Given the description of an element on the screen output the (x, y) to click on. 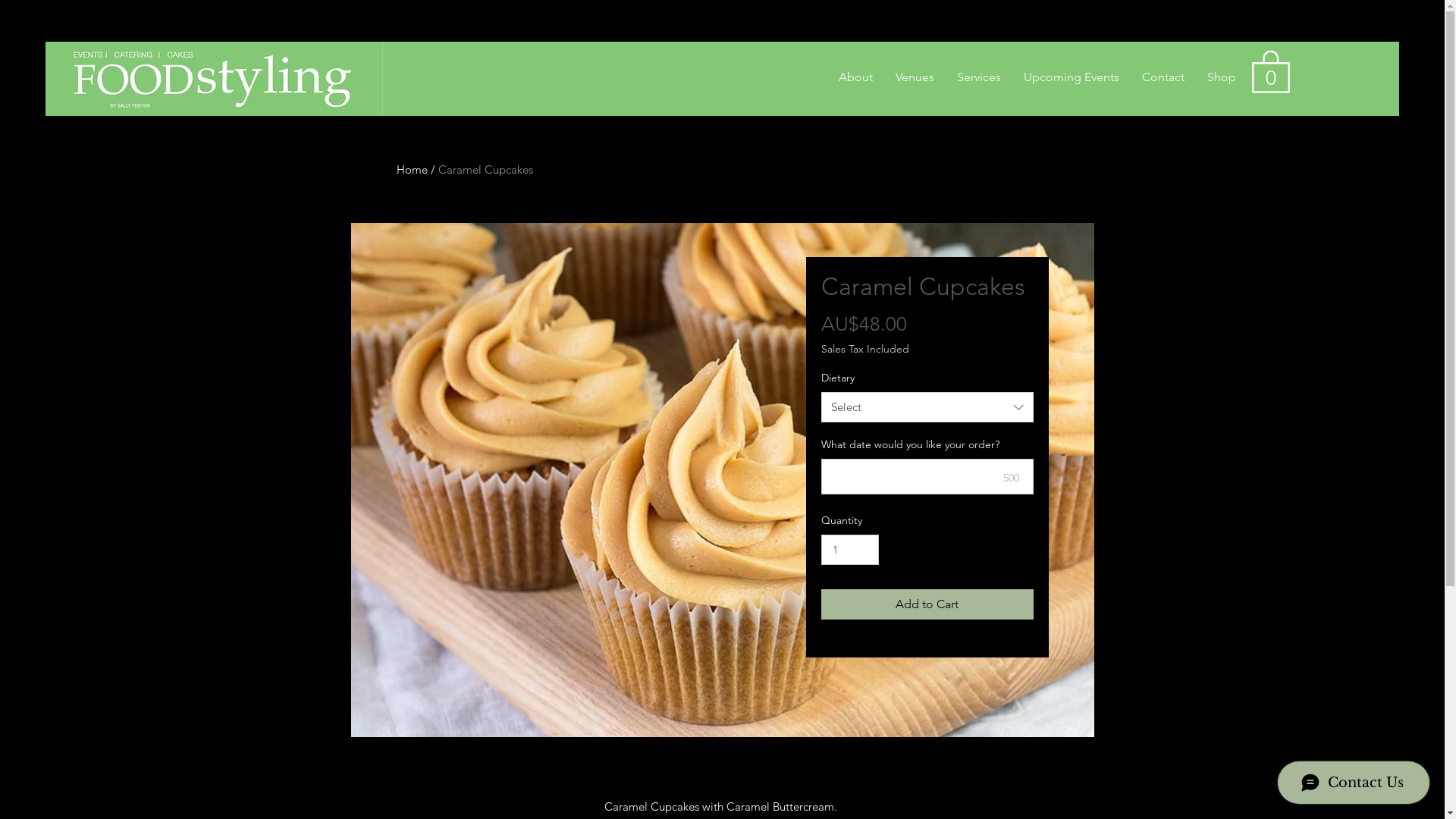
Caramel Cupcakes Element type: text (485, 169)
Contact Element type: text (1162, 77)
Home Element type: text (410, 169)
Select Element type: text (926, 407)
About Element type: text (855, 77)
Venues Element type: text (914, 77)
Services Element type: text (978, 77)
0 Element type: text (1270, 70)
Add to Cart Element type: text (926, 604)
Shop Element type: text (1221, 77)
Upcoming Events Element type: text (1071, 77)
